Given the description of an element on the screen output the (x, y) to click on. 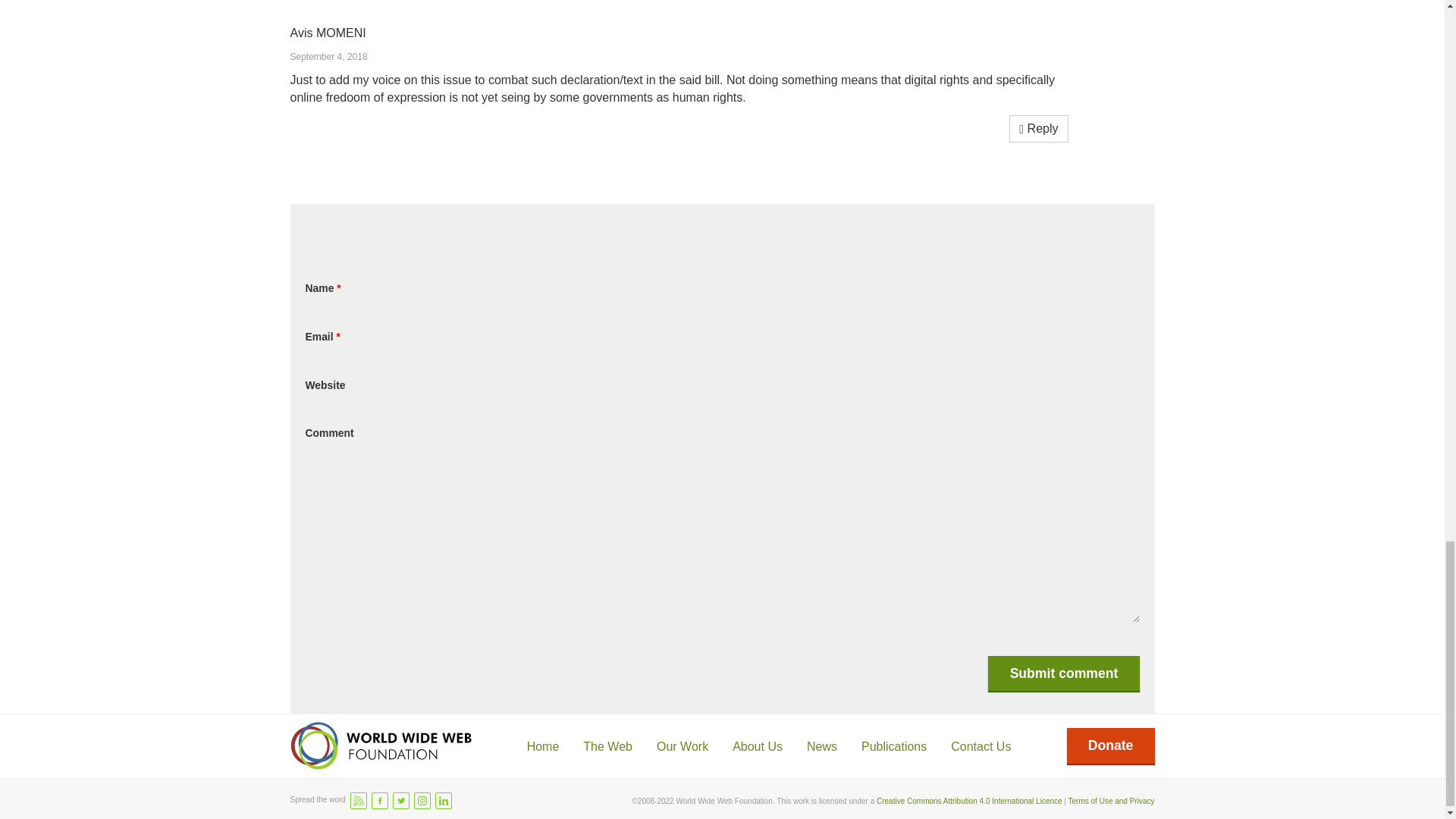
Submit comment (1063, 673)
